Given the description of an element on the screen output the (x, y) to click on. 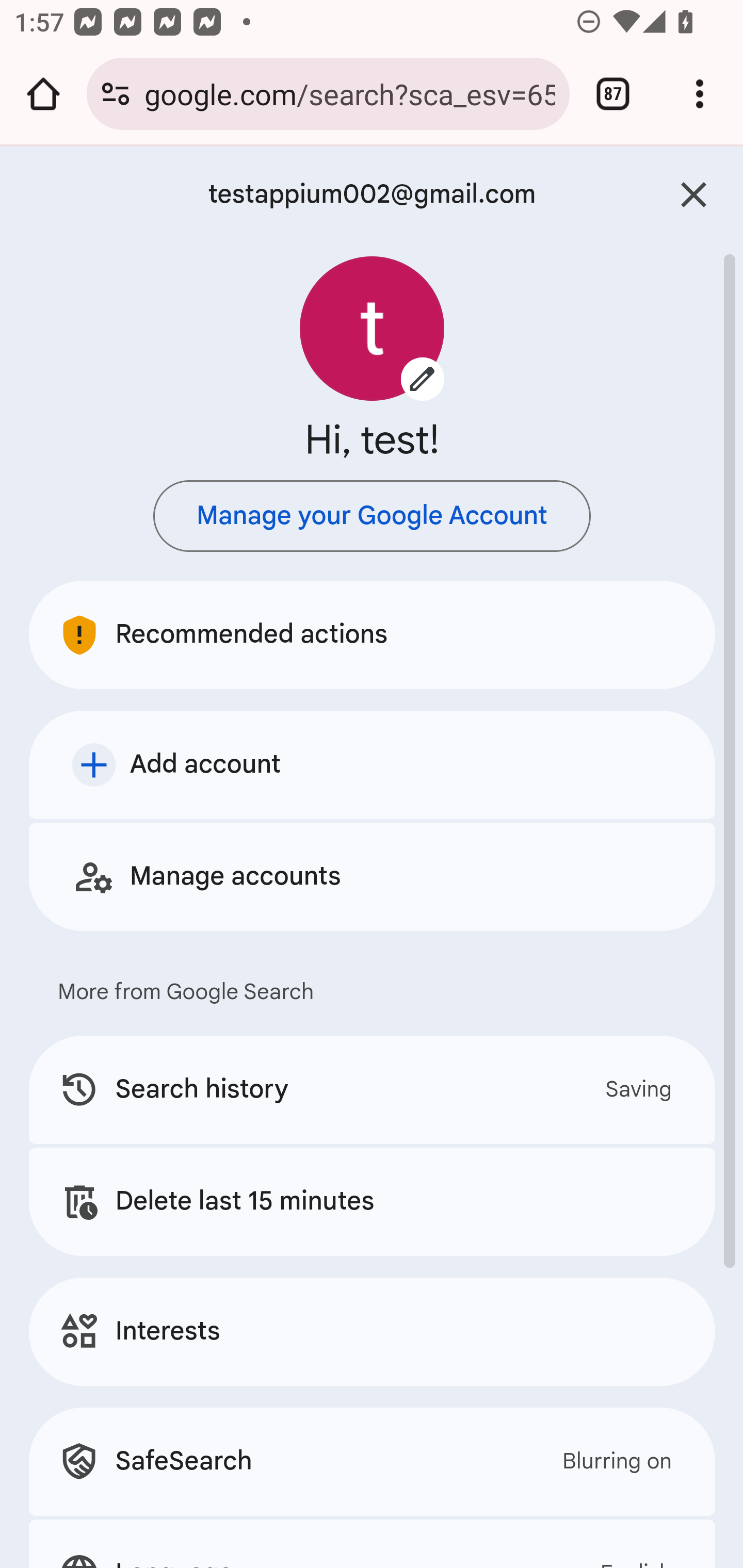
Open the home page (43, 93)
Connection is secure (115, 93)
Switch or close tabs (612, 93)
Customize and control Google Chrome (699, 93)
Close menu (694, 195)
Change profile picture (372, 328)
Manage your Google Account (371, 515)
Recommended actions (372, 633)
Add account (372, 764)
Manage accounts (372, 876)
Delete last 15 minutes (372, 1200)
interests Interests interests Interests (372, 1331)
